Given the description of an element on the screen output the (x, y) to click on. 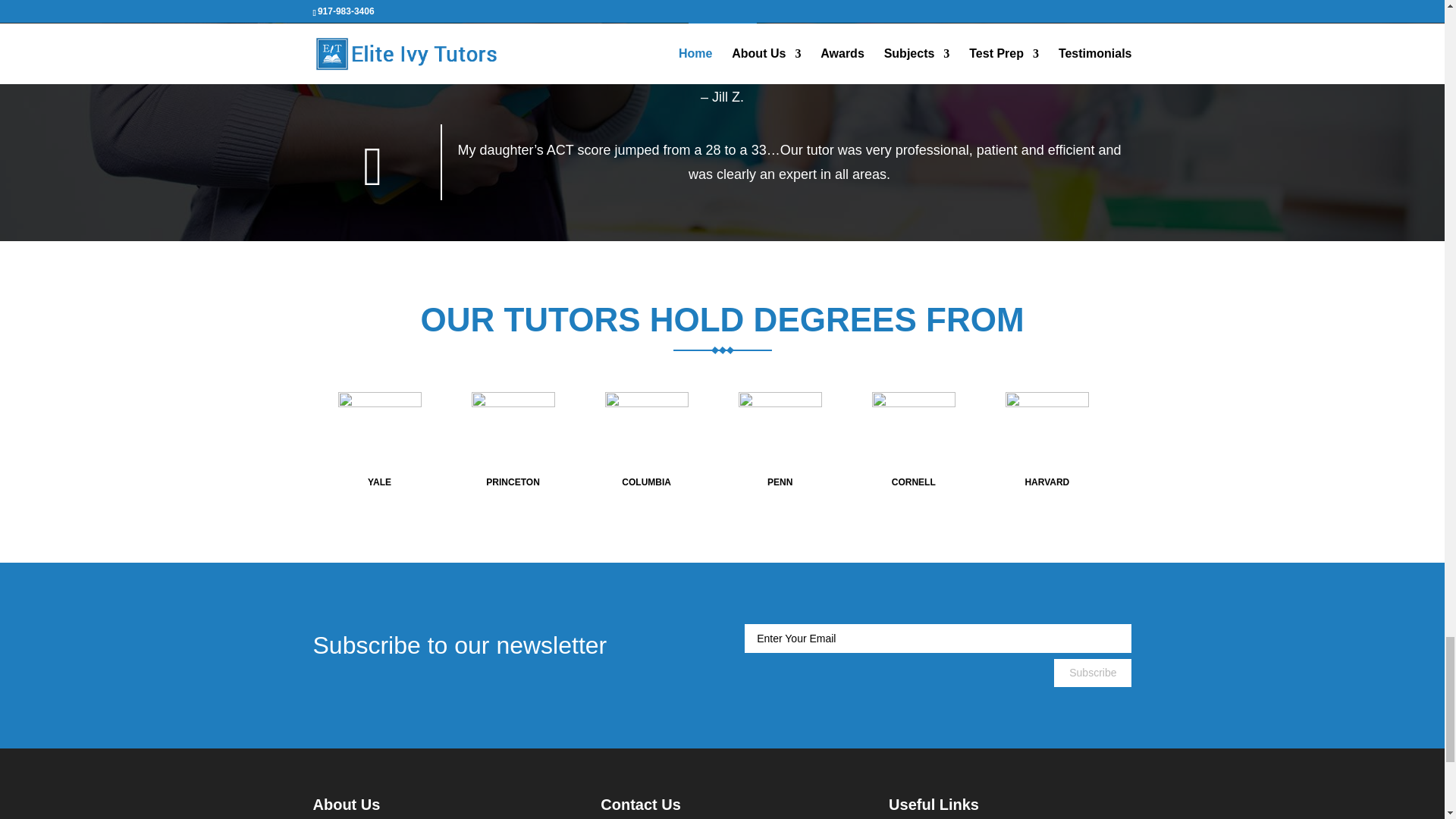
Subscribe (1092, 672)
